Given the description of an element on the screen output the (x, y) to click on. 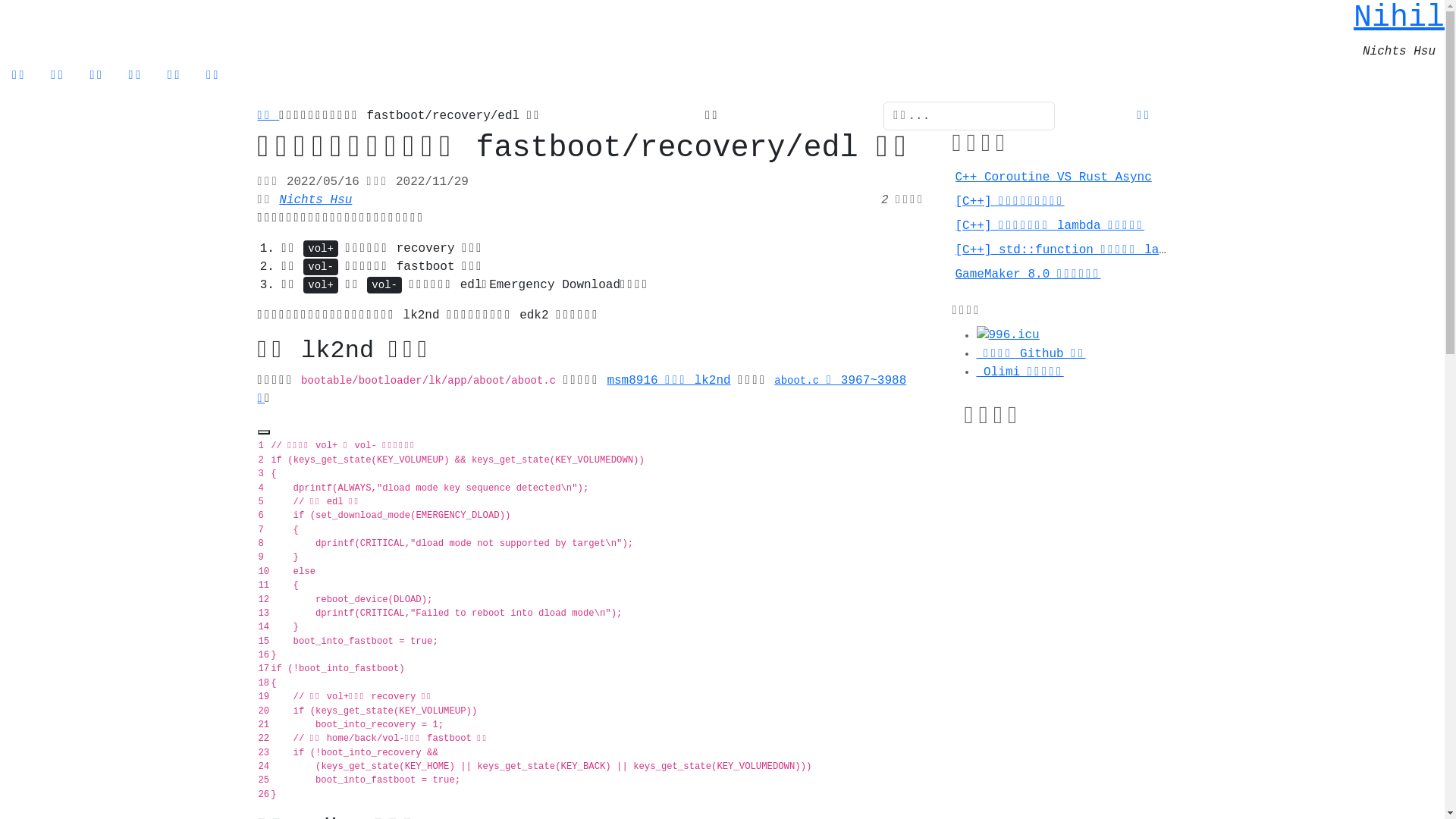
Nihil Element type: text (1398, 17)
C++ Coroutine VS Rust Async Element type: text (1053, 177)
Nichts Hsu Element type: text (315, 200)
